Given the description of an element on the screen output the (x, y) to click on. 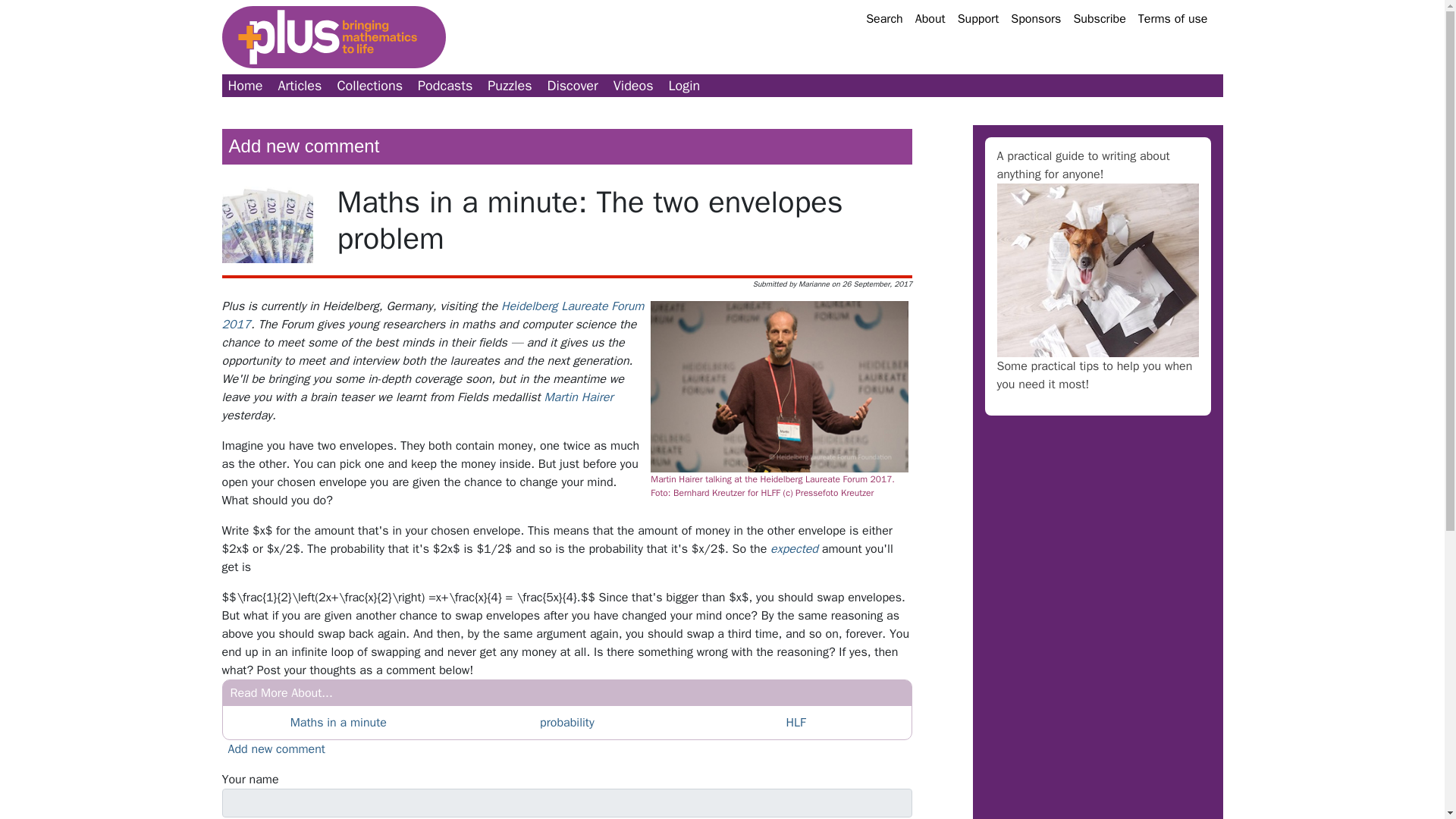
Podcasts (445, 85)
probability (567, 722)
Podcasts (445, 85)
Terms of use (1173, 18)
Collections (369, 85)
Subscribe (1099, 18)
Support (979, 18)
Maths in a minute (338, 722)
Martin Hairer (577, 396)
About (930, 18)
Login (684, 85)
Articles (300, 85)
Home (244, 85)
Puzzles (509, 85)
news features columns and opinions (300, 85)
